Given the description of an element on the screen output the (x, y) to click on. 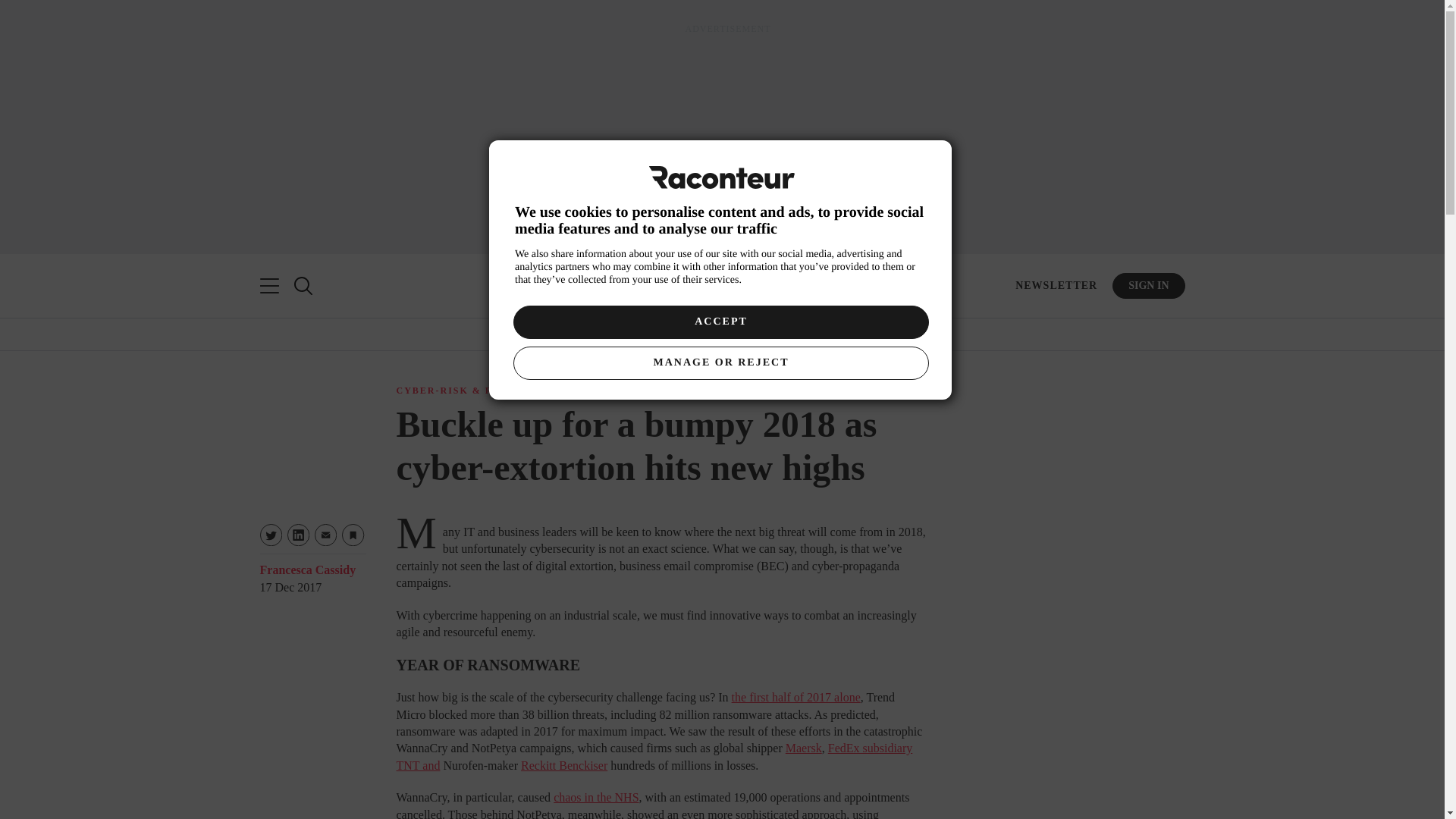
MANAGE OR REJECT (720, 363)
ACCEPT (720, 322)
